Given the description of an element on the screen output the (x, y) to click on. 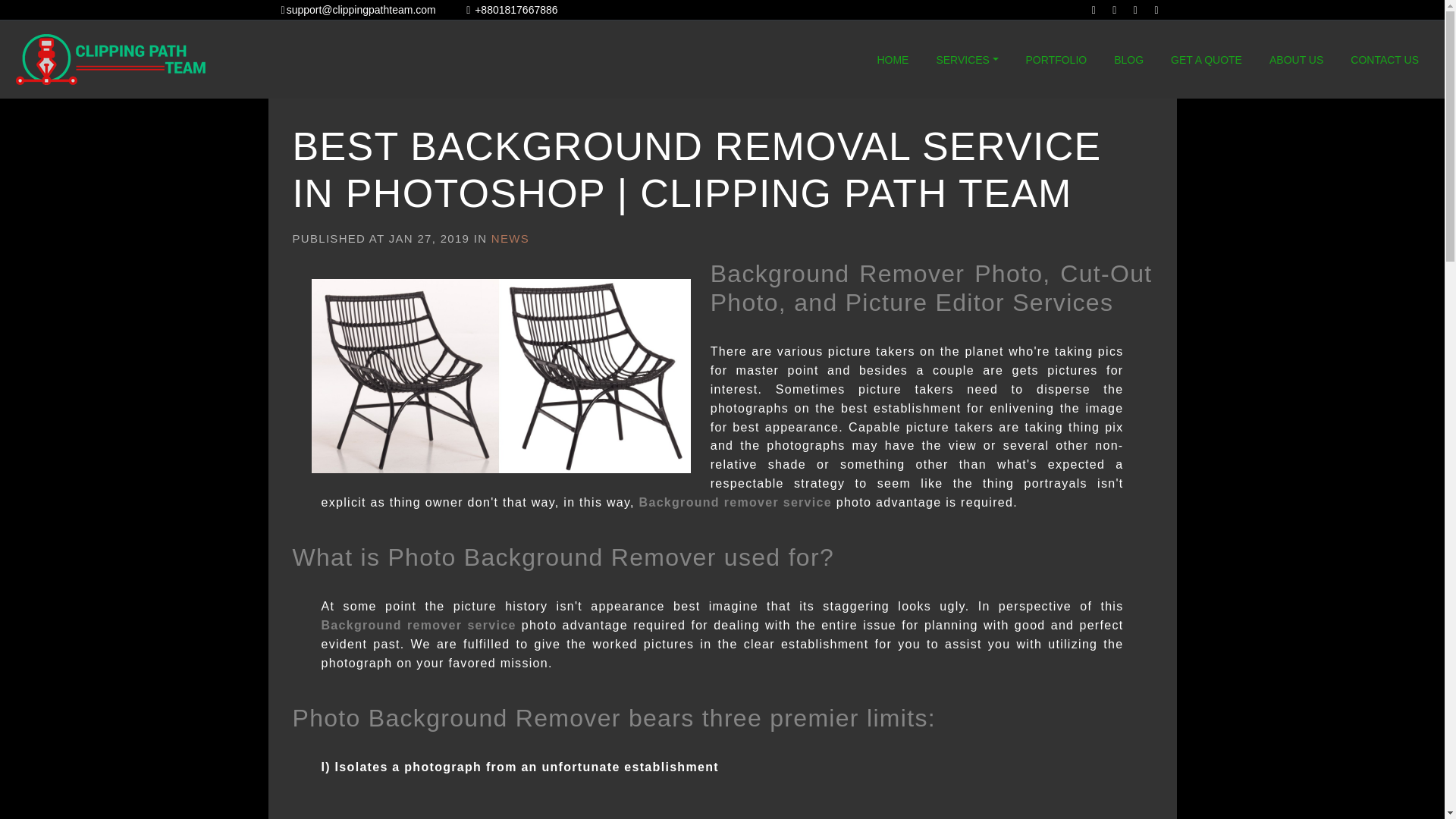
SERVICES (967, 60)
BLOG (1129, 60)
ABOUT US (1296, 60)
Background remover service (735, 502)
Background remover service (418, 625)
CONTACT US (1384, 60)
NEWS (510, 237)
HOME (892, 60)
GET A QUOTE (1205, 60)
PORTFOLIO (1056, 60)
